Given the description of an element on the screen output the (x, y) to click on. 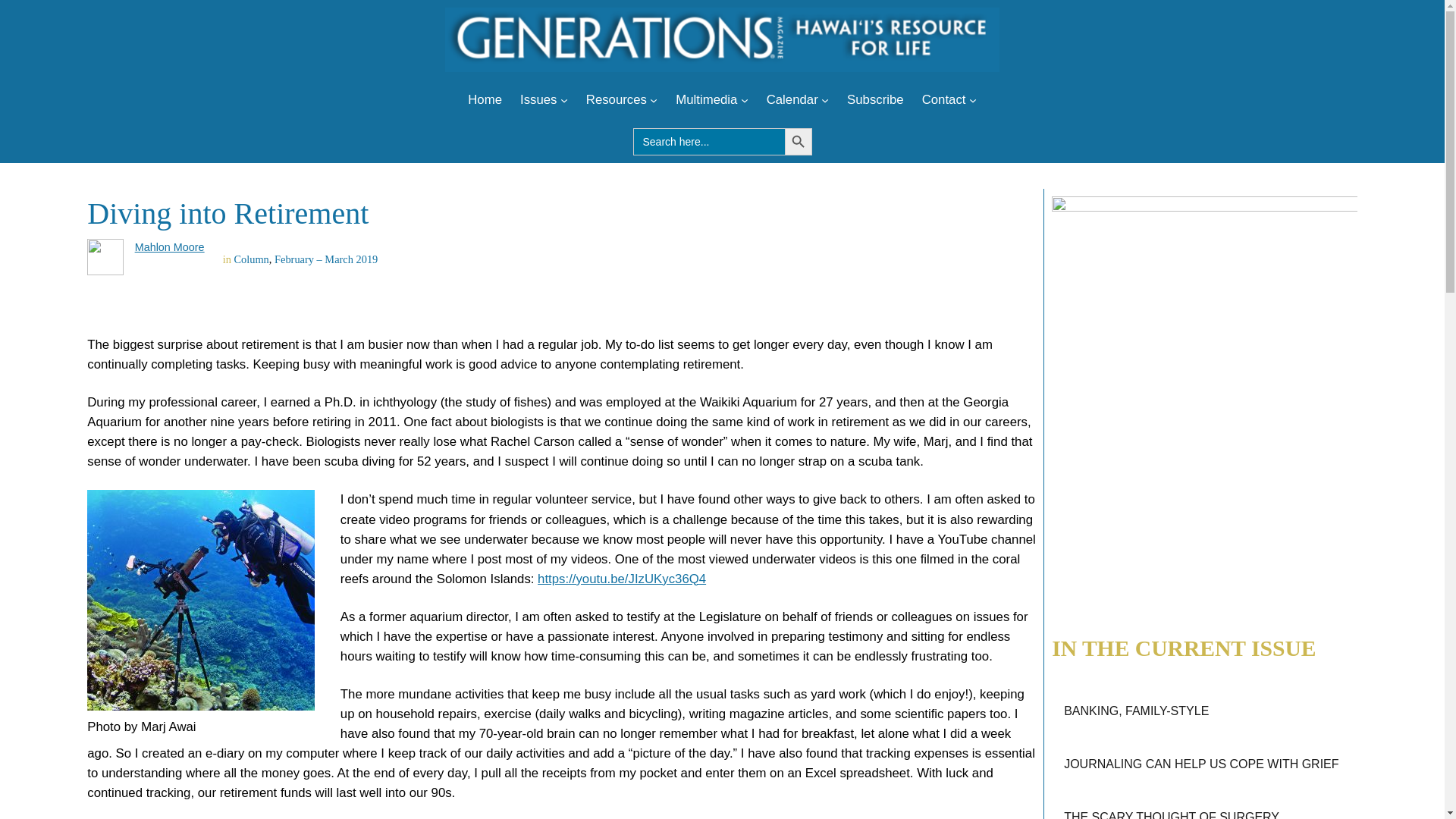
Resources (616, 99)
Multimedia (705, 99)
Calendar (792, 99)
Issues (538, 99)
Home (484, 99)
